Given the description of an element on the screen output the (x, y) to click on. 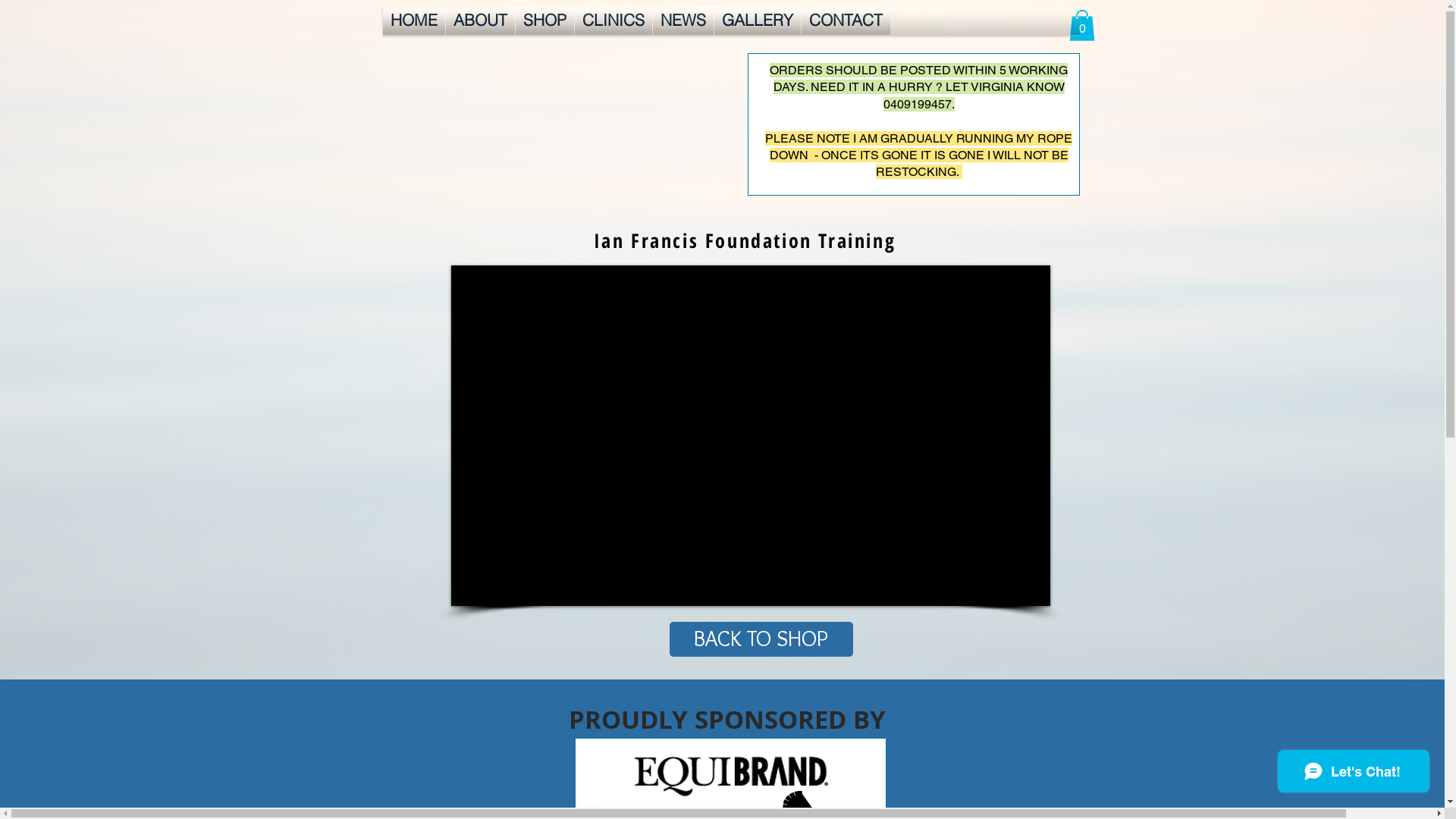
0 Element type: text (1082, 24)
Back to Top Element type: hover (1337, 772)
SHOP Element type: text (544, 19)
CLINICS Element type: text (613, 19)
HOME Element type: text (413, 19)
GALLERY Element type: text (757, 19)
BACK TO SHOP Element type: text (760, 638)
External YouTube Element type: hover (749, 435)
Twitter Tweet Element type: hover (461, 745)
CONTACT Element type: text (844, 19)
NEWS Element type: text (682, 19)
Wix Chat Element type: hover (1357, 774)
ABOUT Element type: text (479, 19)
